Given the description of an element on the screen output the (x, y) to click on. 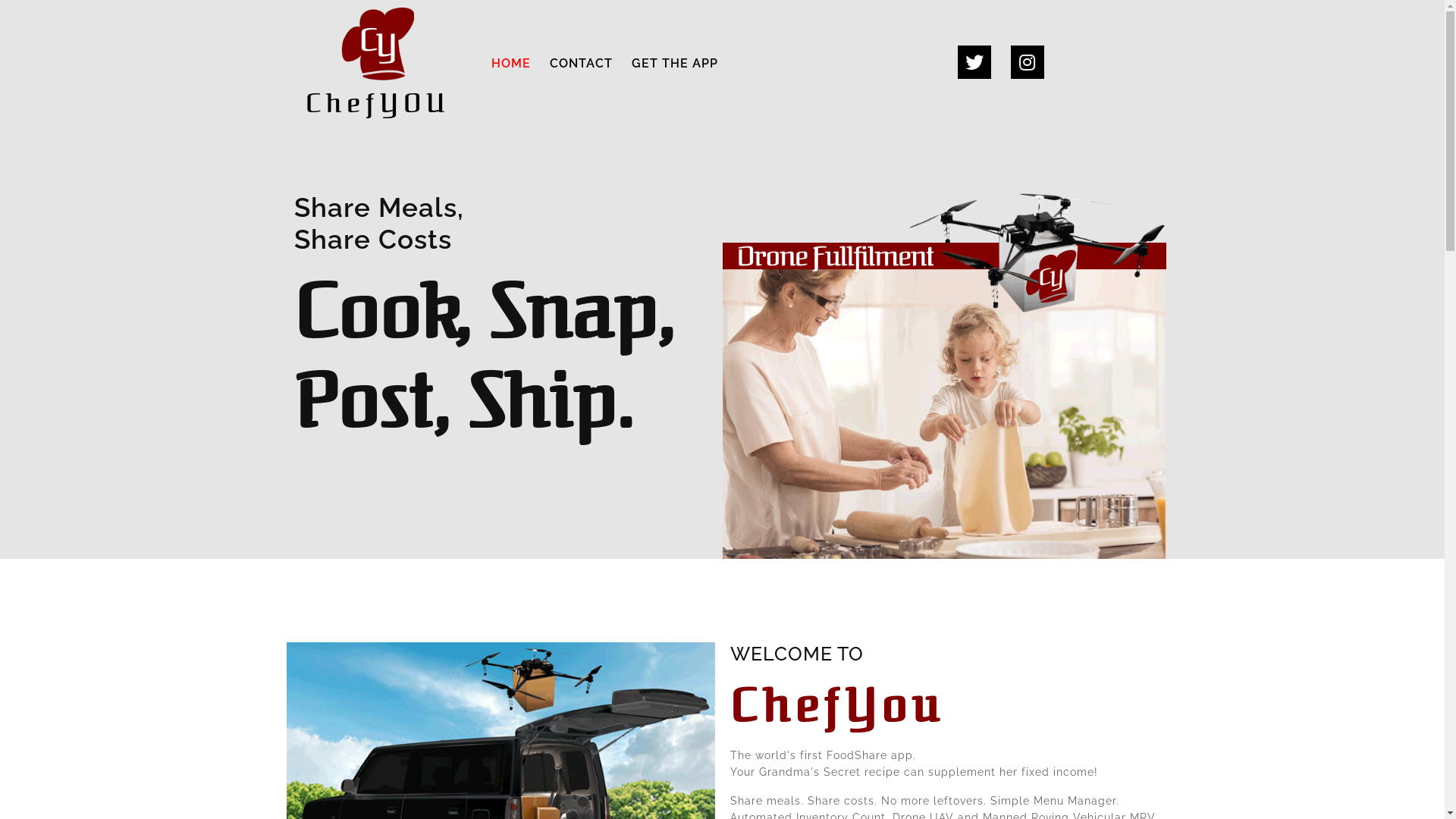
GET THE APP Element type: text (674, 62)
CONTACT Element type: text (581, 62)
ChefYOU Element type: text (377, 63)
droneFulfillment Element type: hover (943, 374)
HOME Element type: text (510, 62)
logo3 Element type: hover (377, 43)
